Given the description of an element on the screen output the (x, y) to click on. 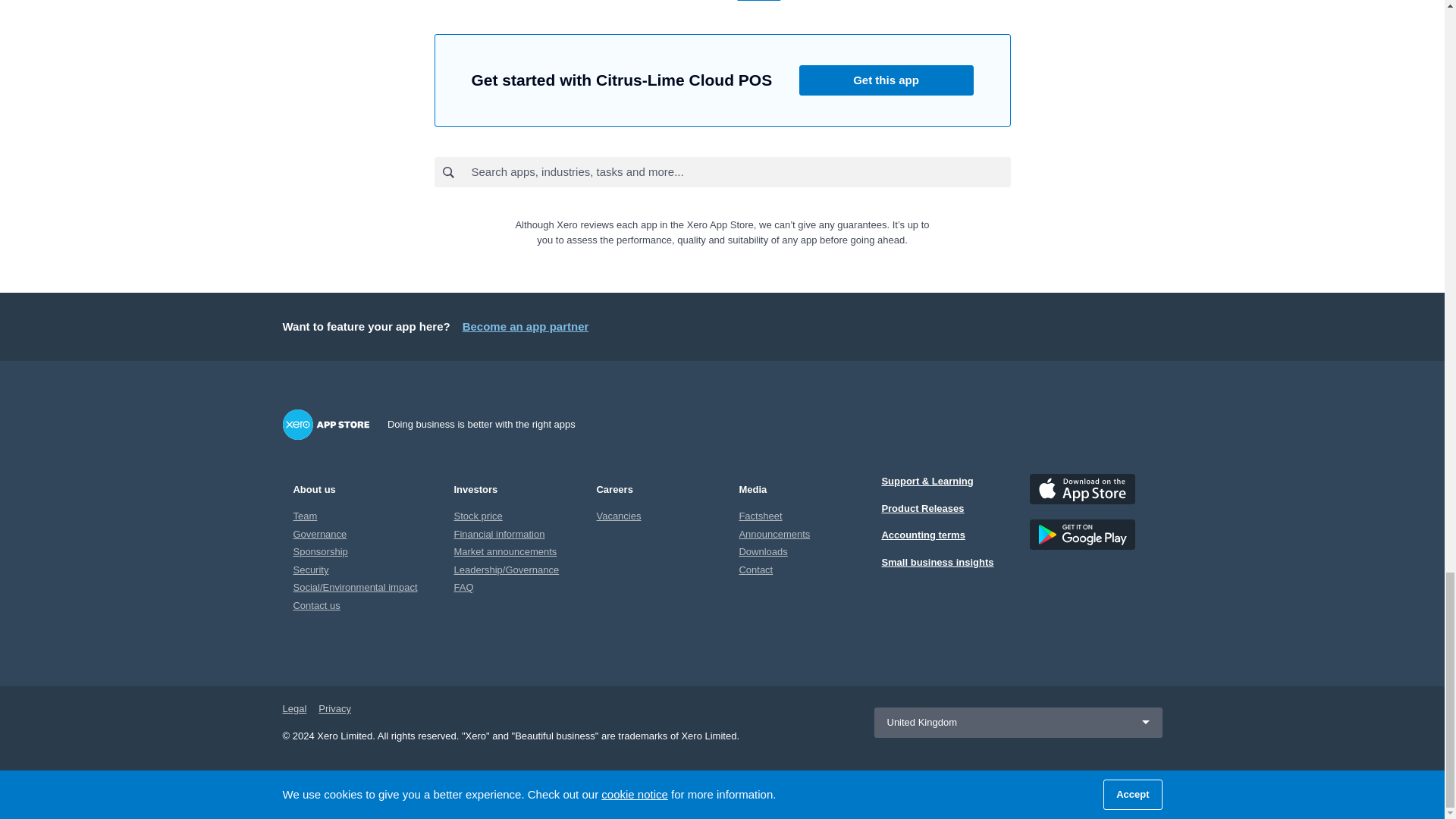
Become an app partner (526, 326)
Get this app (886, 80)
LinkedIn (873, 2)
